Given the description of an element on the screen output the (x, y) to click on. 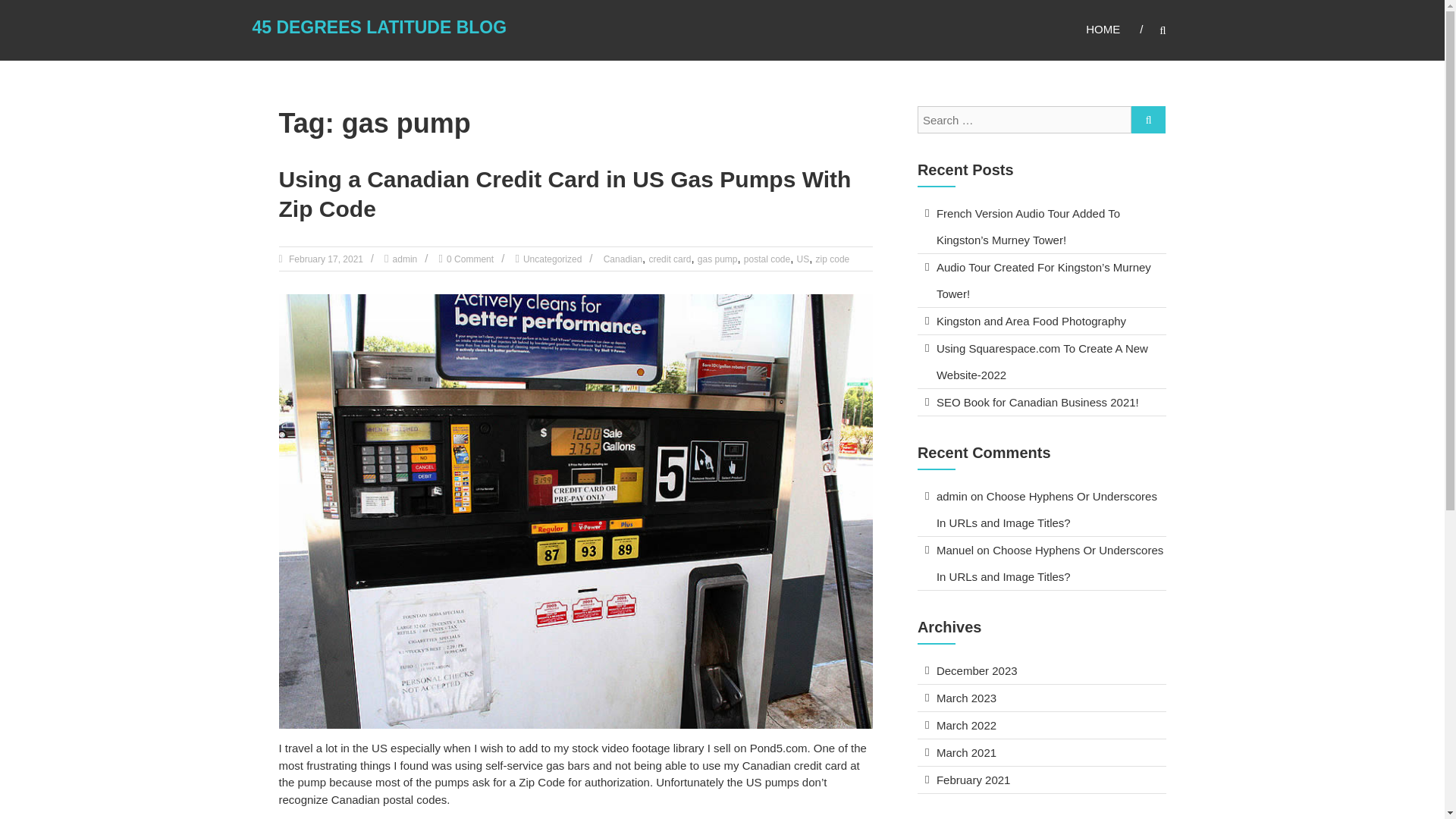
8:47 pm (324, 258)
45 Degrees Latitude Blog (378, 26)
admin (405, 258)
SEO Book for Canadian Business 2021! (1037, 401)
Using a Canadian Credit Card in US Gas Pumps With Zip Code (565, 194)
admin (952, 495)
February 2021 (973, 779)
postal code (767, 258)
credit card (668, 258)
Using Squarespace.com To Create A New Website-2022 (1042, 361)
